Given the description of an element on the screen output the (x, y) to click on. 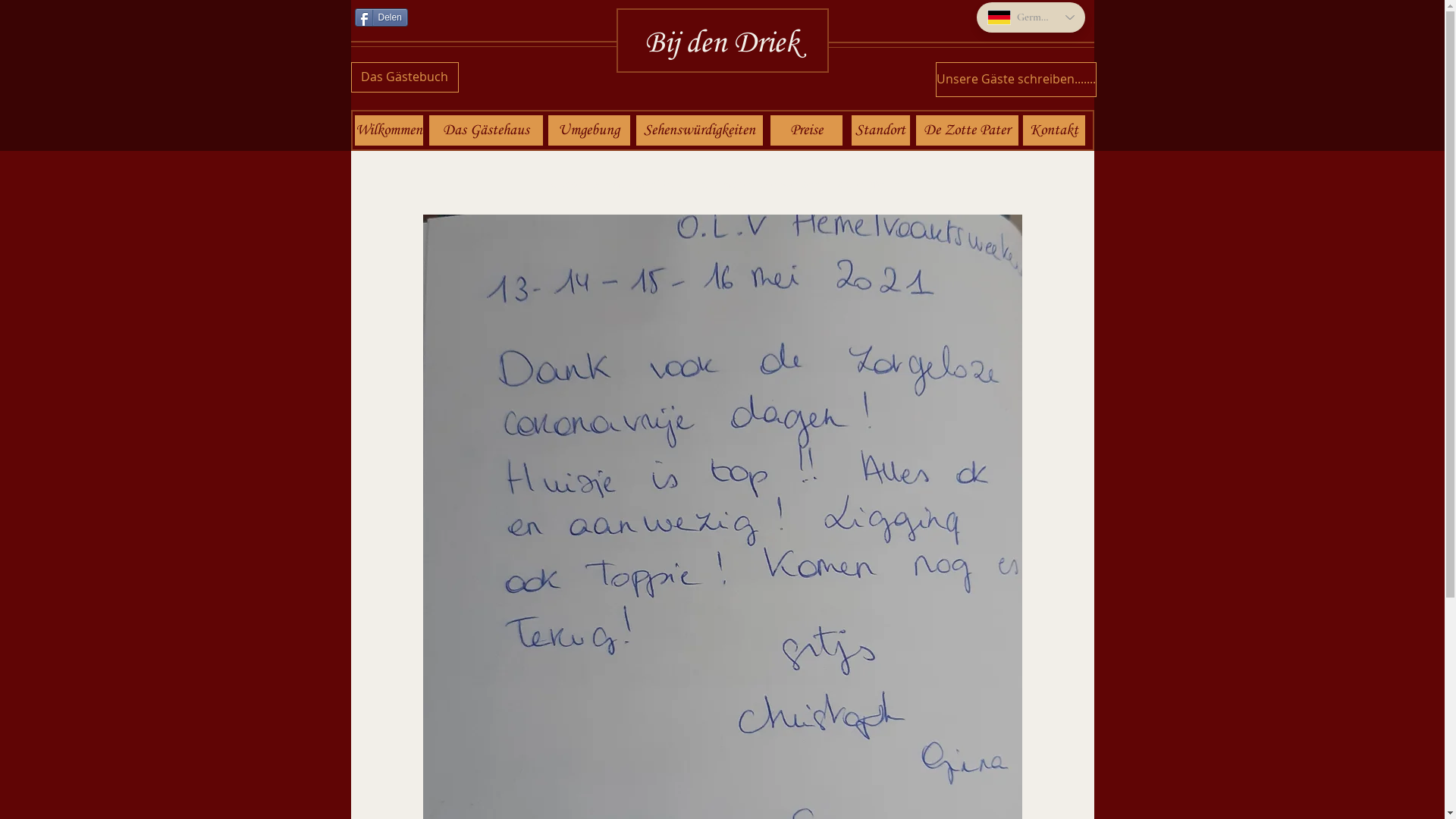
Delen Element type: text (380, 17)
Preise Element type: text (806, 130)
De Zotte Pater Element type: text (967, 130)
Kontakt Element type: text (1053, 130)
Bij den Driek Element type: text (721, 43)
Standort Element type: text (879, 130)
Umgebung Element type: text (588, 130)
Umgebung Element type: text (591, 130)
Wilkommen Element type: text (388, 130)
